Given the description of an element on the screen output the (x, y) to click on. 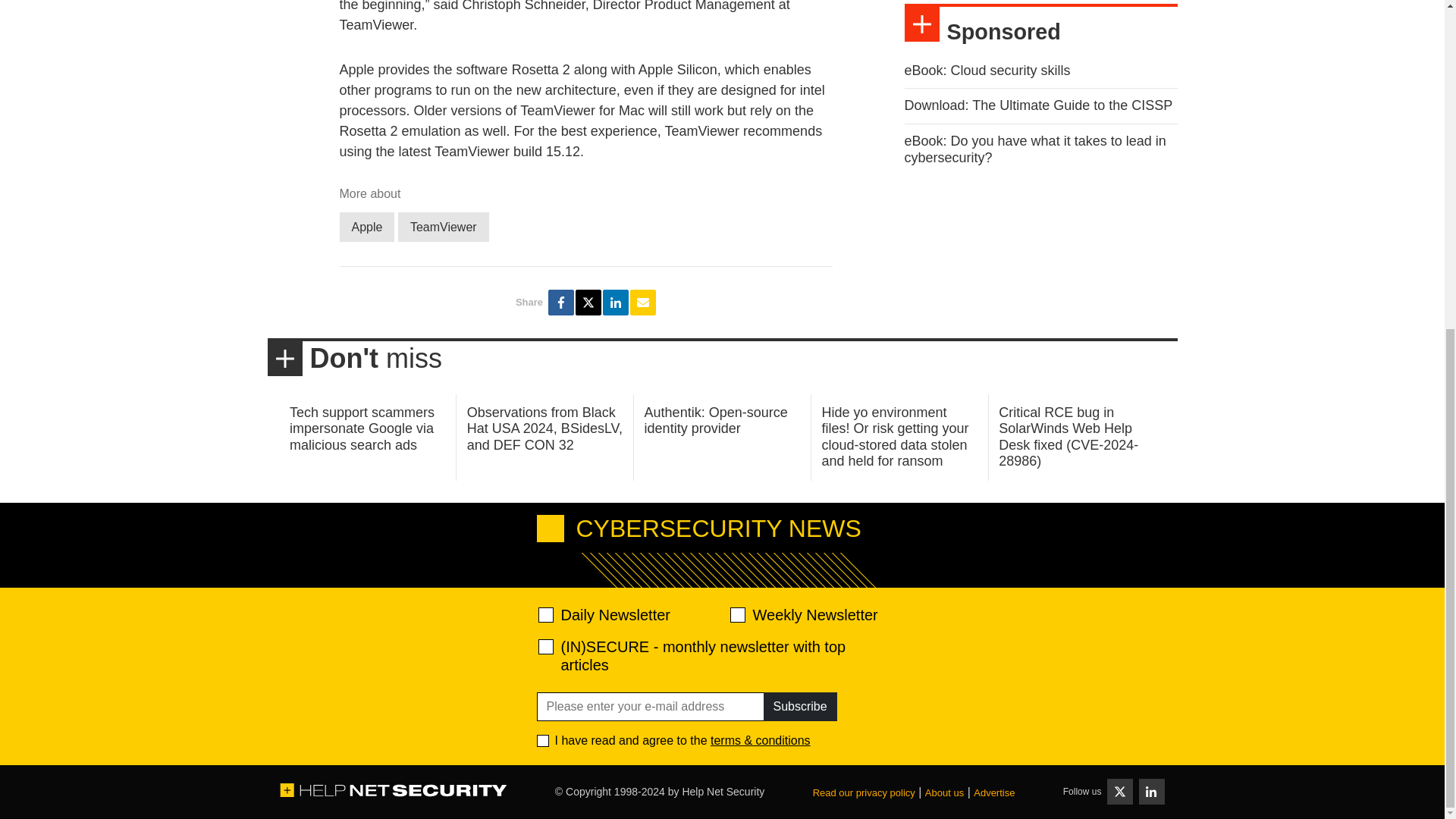
520ac2f639 (545, 614)
eBook: Do you have what it takes to lead in cybersecurity? (1035, 149)
Authentik: Open-source identity provider (716, 420)
Apple (366, 226)
28abe5d9ef (545, 646)
Apple (366, 226)
TeamViewer (443, 226)
